Given the description of an element on the screen output the (x, y) to click on. 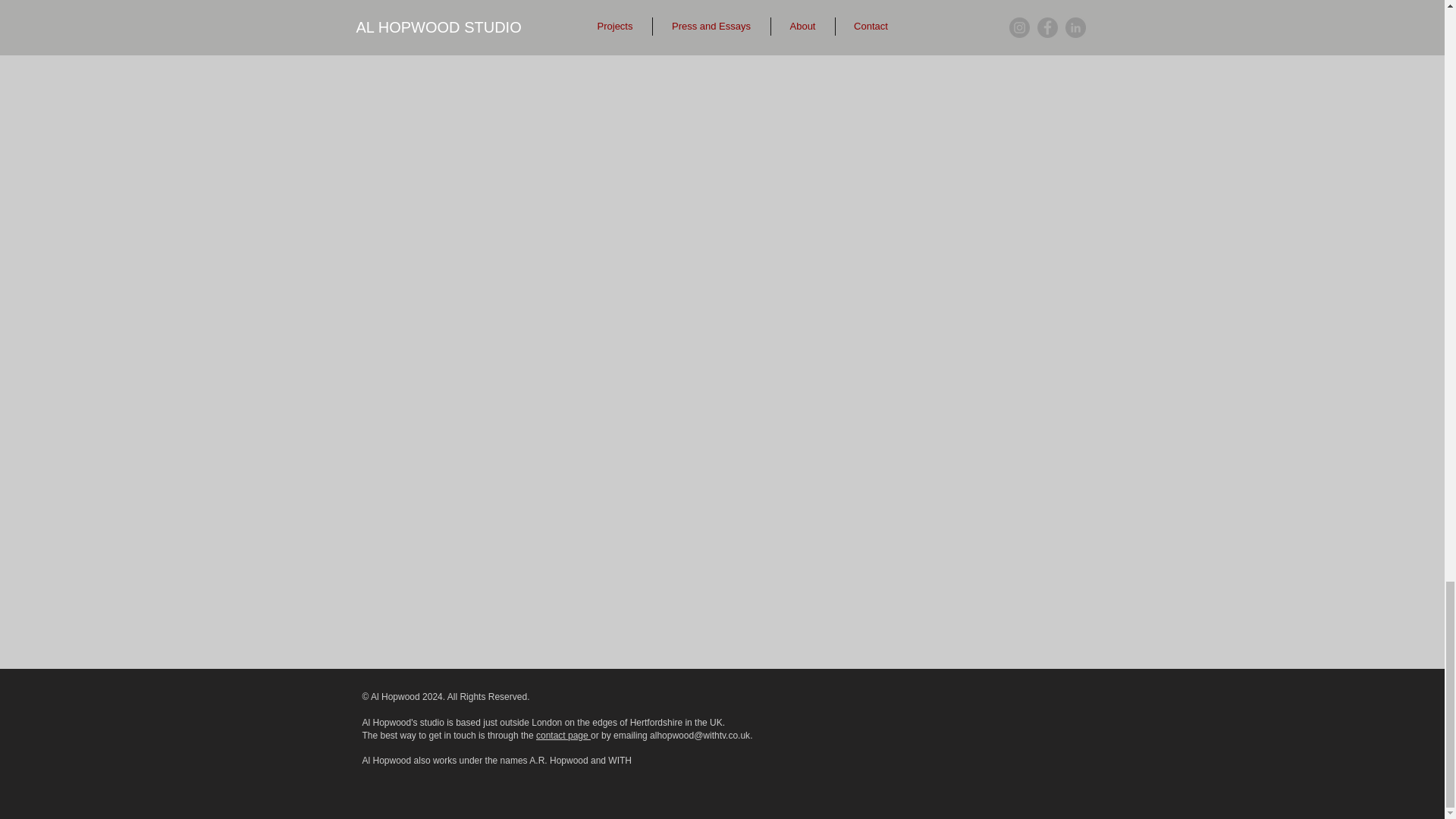
contact page (563, 735)
